Given the description of an element on the screen output the (x, y) to click on. 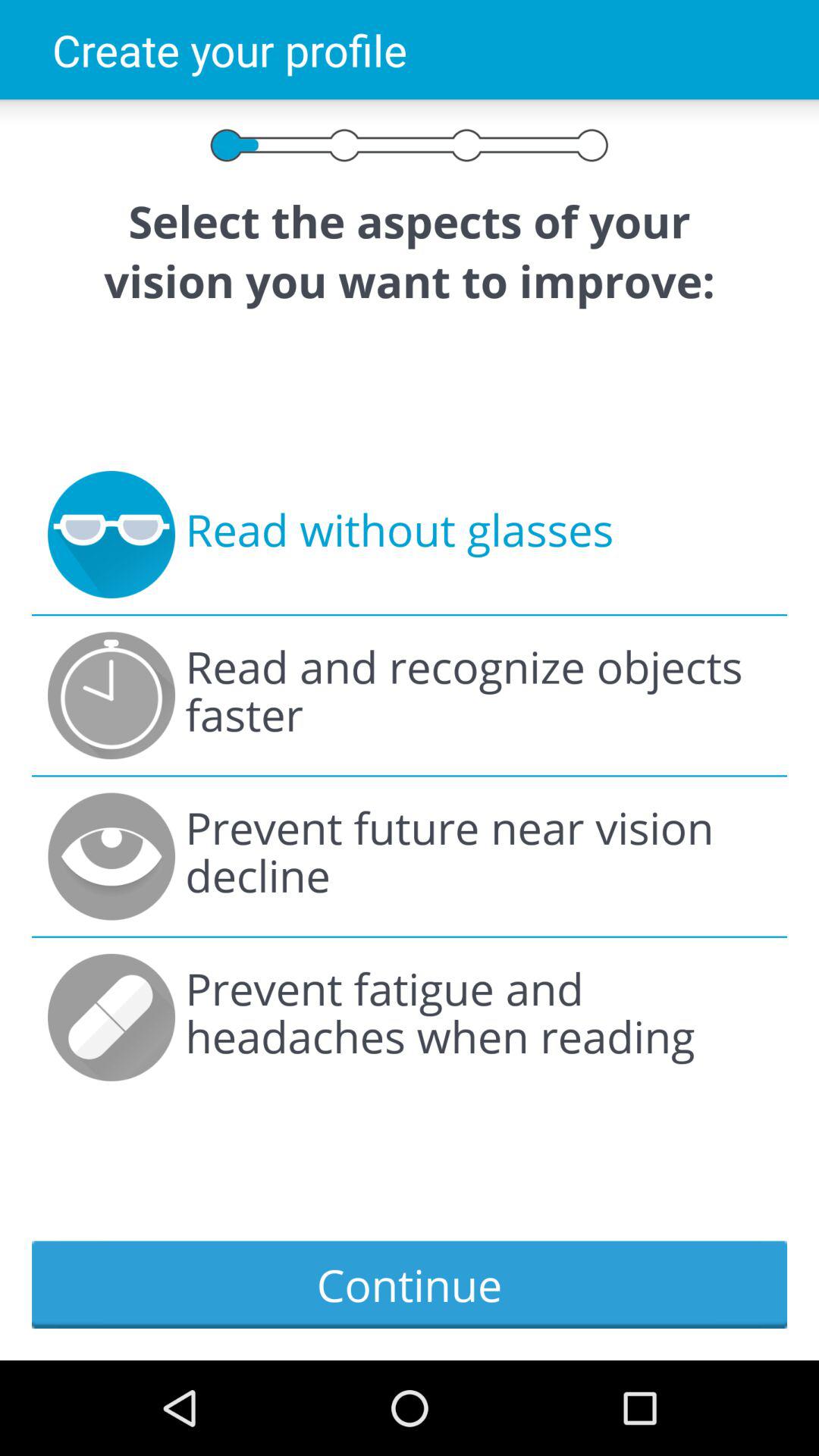
turn on item above the prevent future near (478, 695)
